Given the description of an element on the screen output the (x, y) to click on. 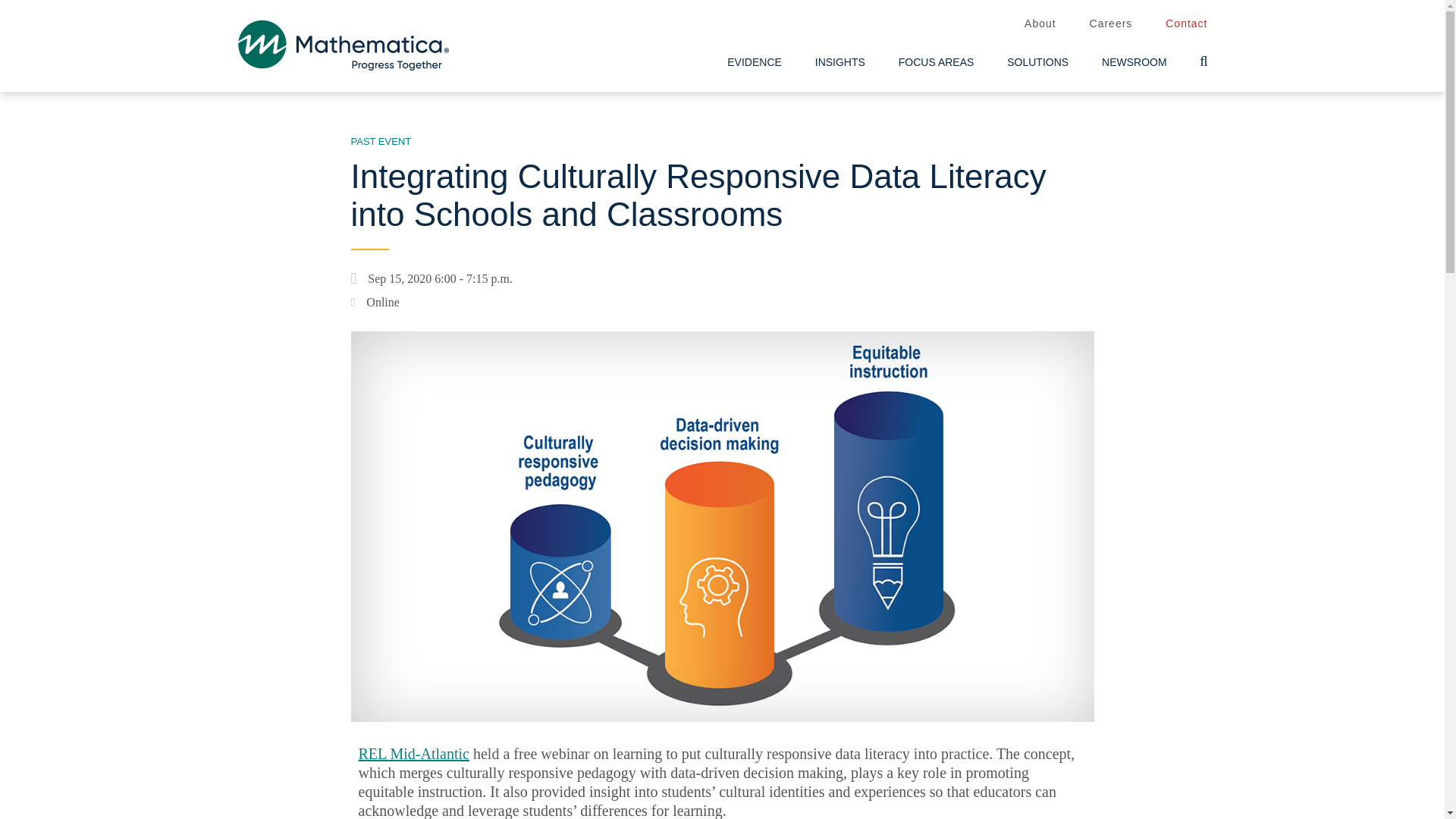
About (1041, 23)
Careers (1110, 23)
INSIGHTS (839, 62)
SOLUTIONS (1037, 62)
NEWSROOM (1134, 62)
EVIDENCE (753, 62)
Contact (1186, 23)
FOCUS AREAS (936, 62)
